Given the description of an element on the screen output the (x, y) to click on. 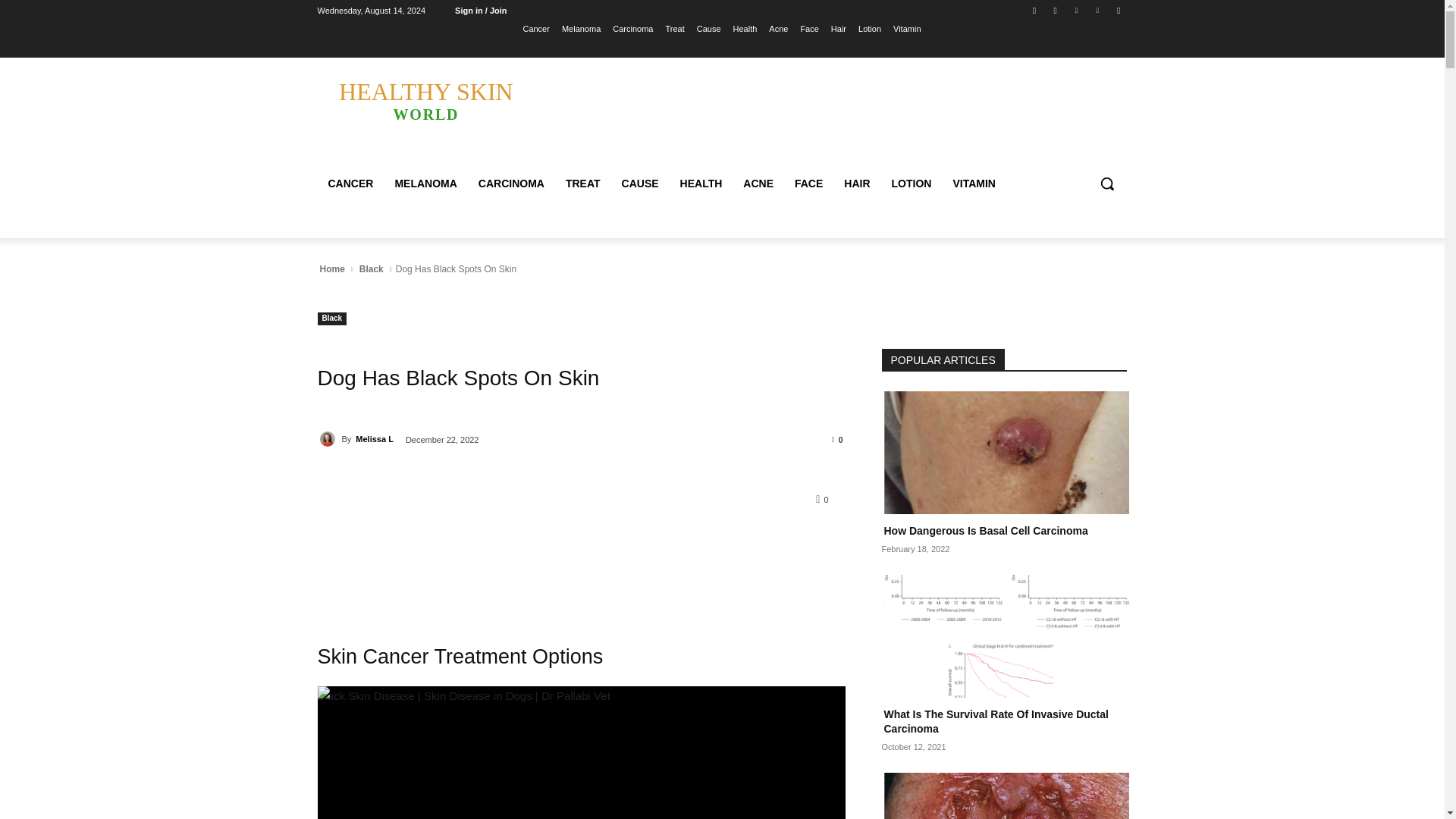
Twitter (1075, 9)
Lotion (869, 28)
Youtube (1117, 9)
Cause (708, 28)
Vimeo (1097, 9)
Melanoma (580, 28)
Health (745, 28)
Treat (674, 28)
Facebook (1034, 9)
Melissa L (328, 438)
